Given the description of an element on the screen output the (x, y) to click on. 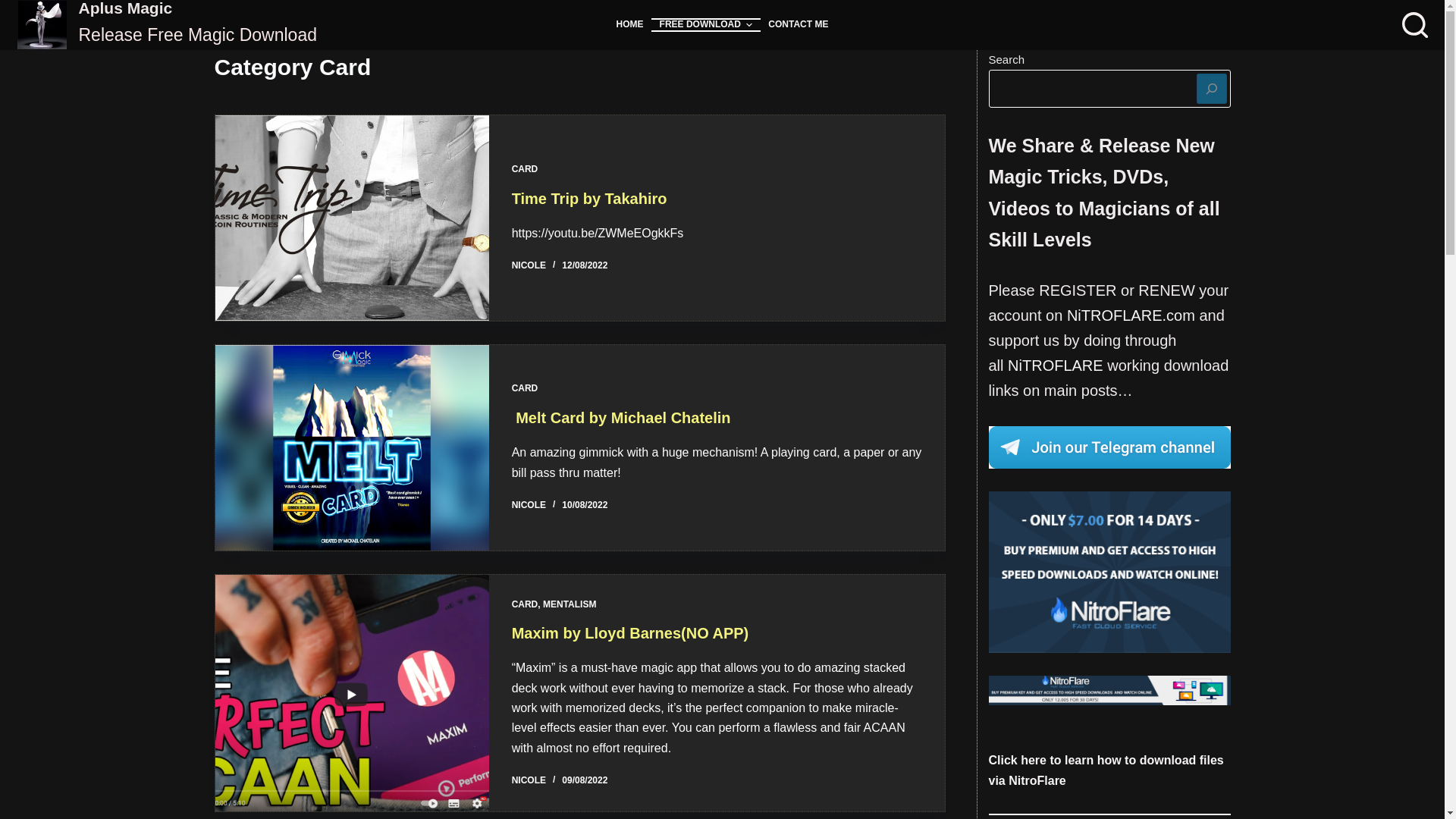
FREE DOWNLOAD (705, 24)
Category Card (579, 66)
Skip to content (15, 7)
Aplus Magic (125, 8)
HOME (629, 24)
Posts by Nicole (529, 504)
Posts by Nicole (529, 265)
Posts by Nicole (529, 779)
CONTACT ME (797, 24)
